Given the description of an element on the screen output the (x, y) to click on. 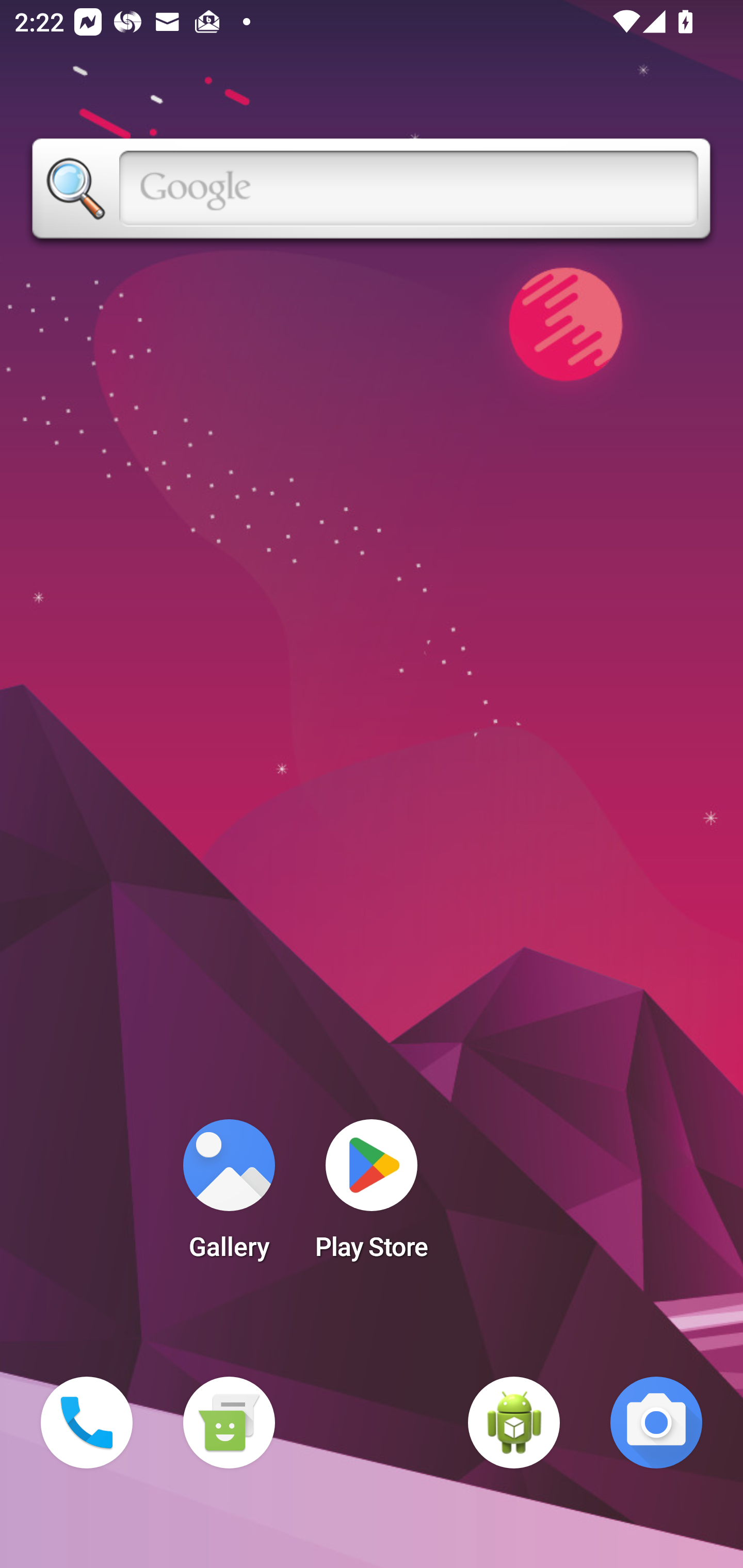
Gallery (228, 1195)
Play Store (371, 1195)
Phone (86, 1422)
Messaging (228, 1422)
WebView Browser Tester (513, 1422)
Camera (656, 1422)
